Given the description of an element on the screen output the (x, y) to click on. 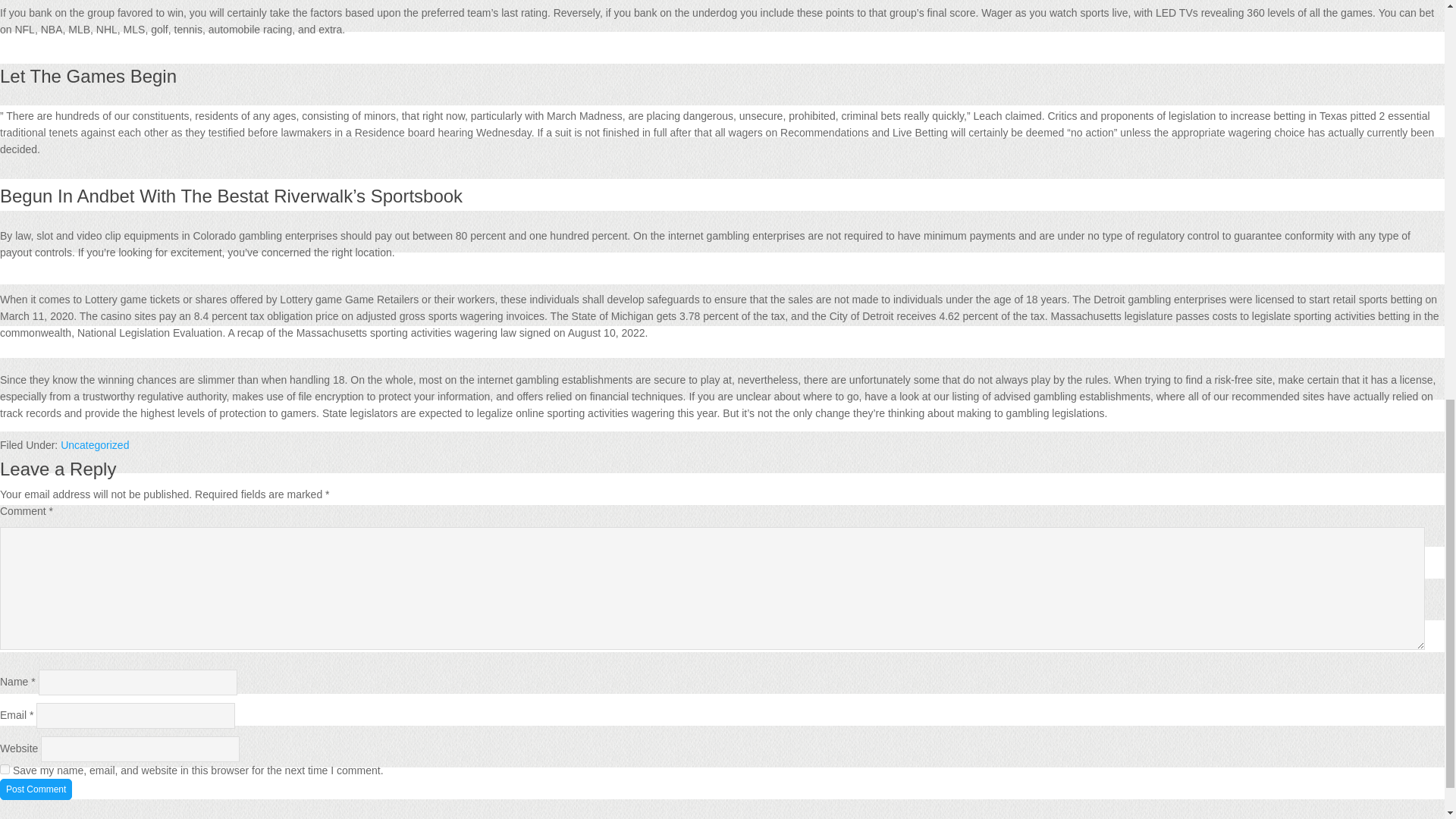
yes (5, 768)
Post Comment (35, 789)
Post Comment (35, 789)
Uncategorized (95, 444)
